Given the description of an element on the screen output the (x, y) to click on. 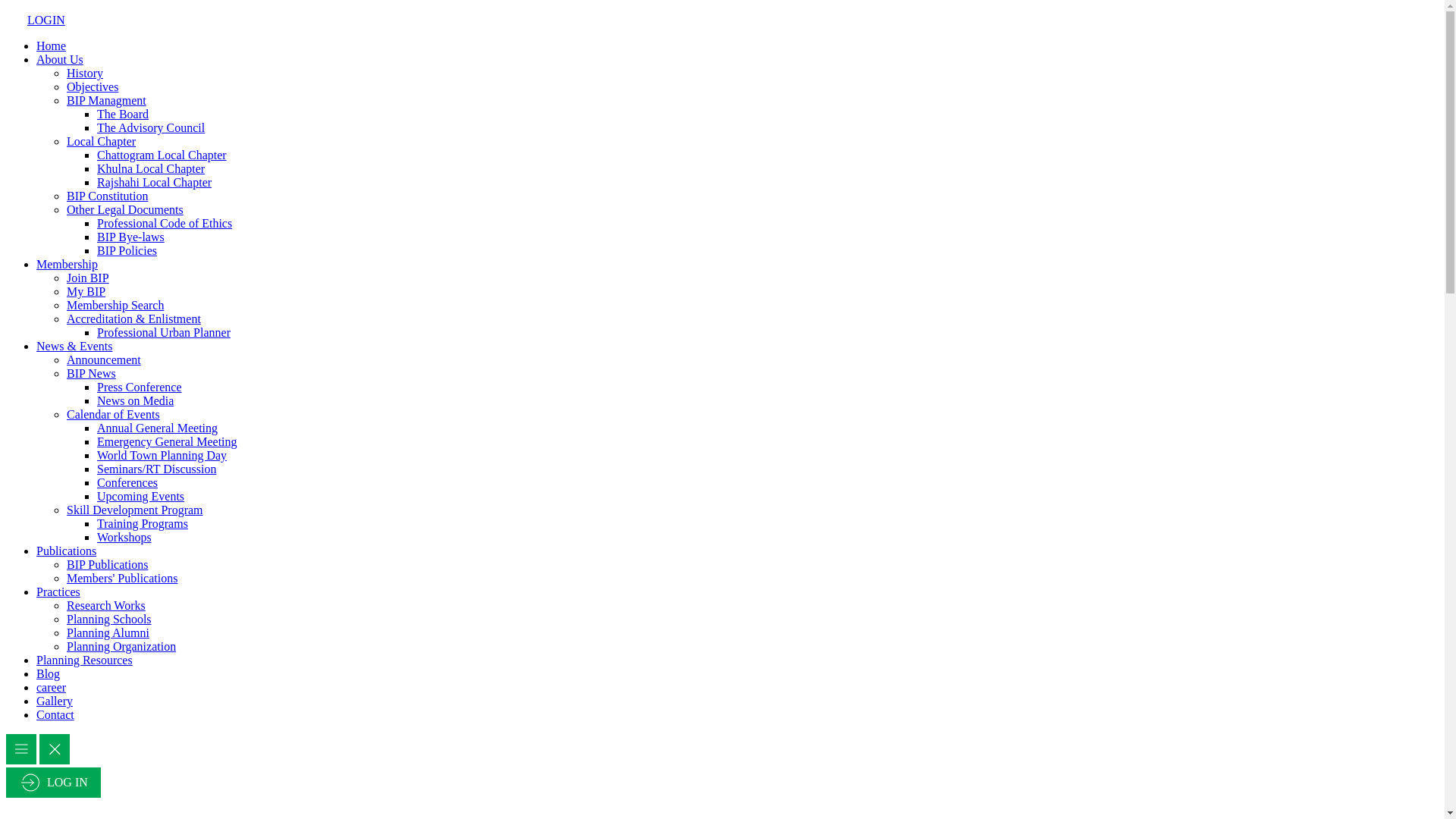
BIP Bye-laws Element type: text (130, 236)
History Element type: text (84, 72)
Khulna Local Chapter Element type: text (150, 168)
Announcement Element type: text (103, 359)
BIP Managment Element type: text (106, 100)
Local Chapter Element type: text (100, 140)
Calendar of Events Element type: text (113, 413)
The Board Element type: text (122, 113)
About Us Element type: text (59, 59)
Seminars/RT Discussion Element type: text (156, 468)
News on Media Element type: text (135, 400)
Publications Element type: text (66, 550)
Emergency General Meeting Element type: text (167, 441)
Blog Element type: text (47, 673)
Planning Organization Element type: text (120, 646)
Annual General Meeting Element type: text (157, 427)
Membership Element type: text (66, 263)
News & Events Element type: text (74, 345)
Rajshahi Local Chapter Element type: text (154, 181)
Accreditation & Enlistment Element type: text (133, 318)
Gallery Element type: text (54, 700)
BIP Publications Element type: text (106, 564)
Upcoming Events Element type: text (140, 495)
Membership Search Element type: text (114, 304)
Objectives Element type: text (92, 86)
Training Programs Element type: text (142, 523)
Members' Publications Element type: text (121, 577)
Skill Development Program Element type: text (134, 509)
Contact Element type: text (55, 714)
Join BIP Element type: text (87, 277)
Other Legal Documents Element type: text (124, 209)
Planning Alumni Element type: text (107, 632)
Chattogram Local Chapter Element type: text (161, 154)
career Element type: text (50, 686)
Professional Code of Ethics Element type: text (164, 222)
LOGIN Element type: text (37, 19)
The Advisory Council Element type: text (150, 127)
BIP News Element type: text (91, 373)
Practices Element type: text (58, 591)
My BIP Element type: text (85, 291)
Home Element type: text (50, 45)
Conferences Element type: text (127, 482)
Press Conference Element type: text (139, 386)
Planning Resources Element type: text (84, 659)
World Town Planning Day Element type: text (161, 454)
BIP Policies Element type: text (126, 250)
Workshops Element type: text (124, 536)
Planning Schools Element type: text (108, 618)
Research Works Element type: text (105, 605)
BIP Constitution Element type: text (106, 195)
Professional Urban Planner Element type: text (163, 332)
